Given the description of an element on the screen output the (x, y) to click on. 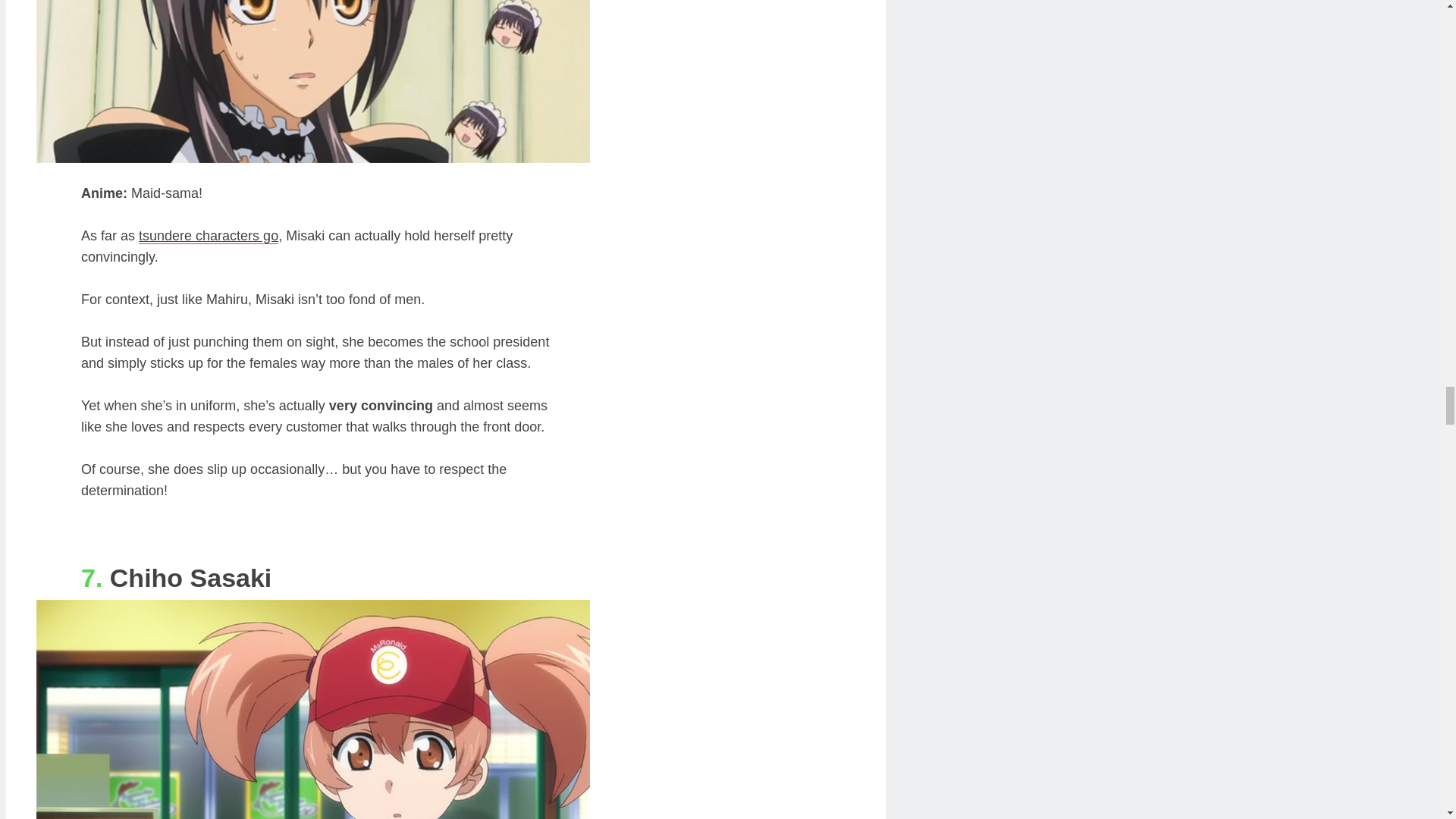
tsundere characters go (208, 236)
